Given the description of an element on the screen output the (x, y) to click on. 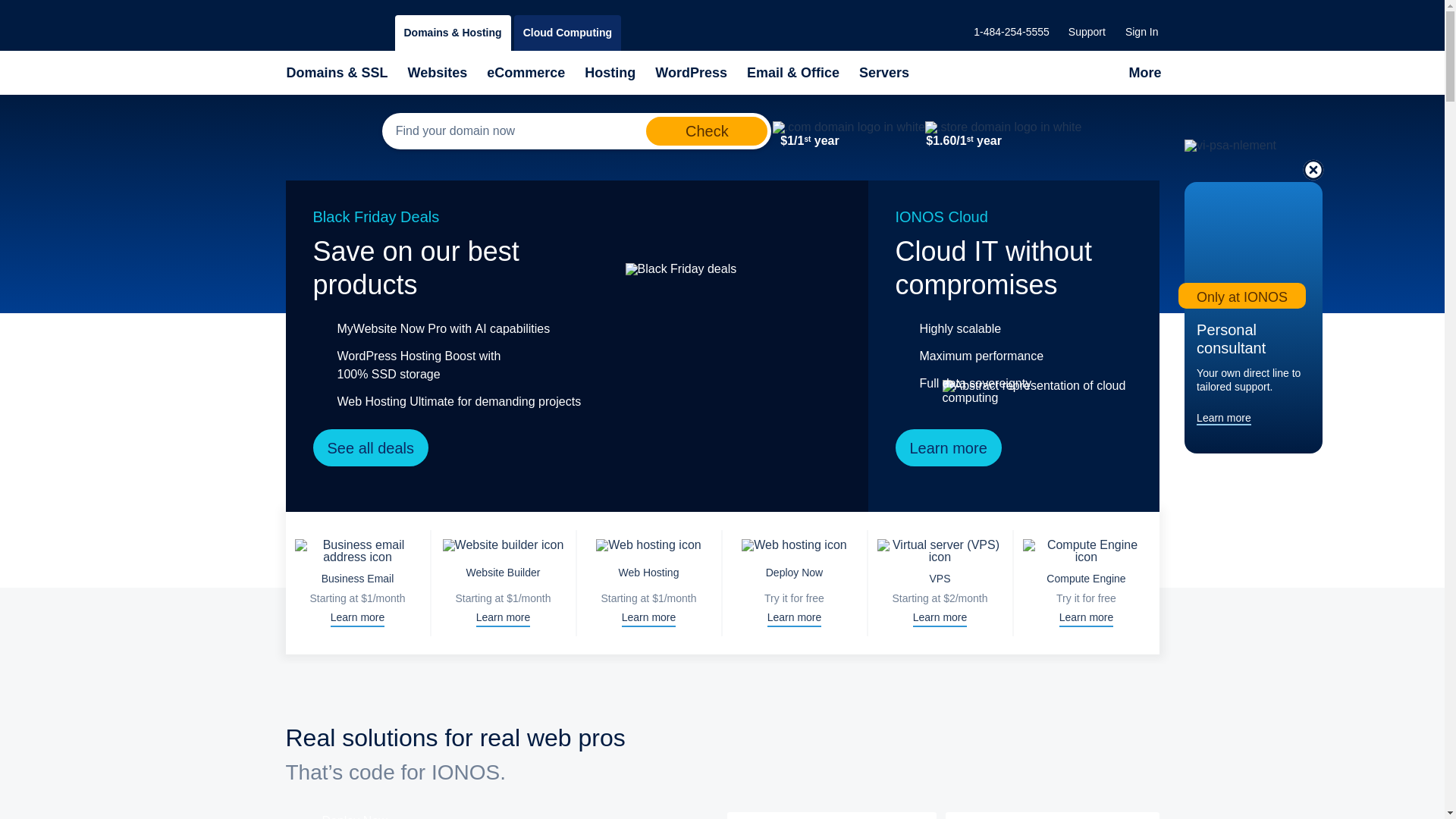
Learn more Element type: text (1223, 417)
Learn more Element type: text (947, 447)
Email & Office Element type: text (793, 72)
Websites Element type: text (437, 72)
WordPress Element type: text (691, 72)
Sign In Element type: text (1141, 31)
Cloud Computing Element type: text (567, 32)
More Element type: text (1144, 72)
Domains & SSL Element type: text (336, 72)
Hosting Element type: text (609, 72)
eCommerce Element type: text (525, 72)
Check Element type: text (706, 130)
See all deals Element type: text (370, 447)
Servers Element type: text (884, 72)
Support Element type: text (1086, 31)
